Given the description of an element on the screen output the (x, y) to click on. 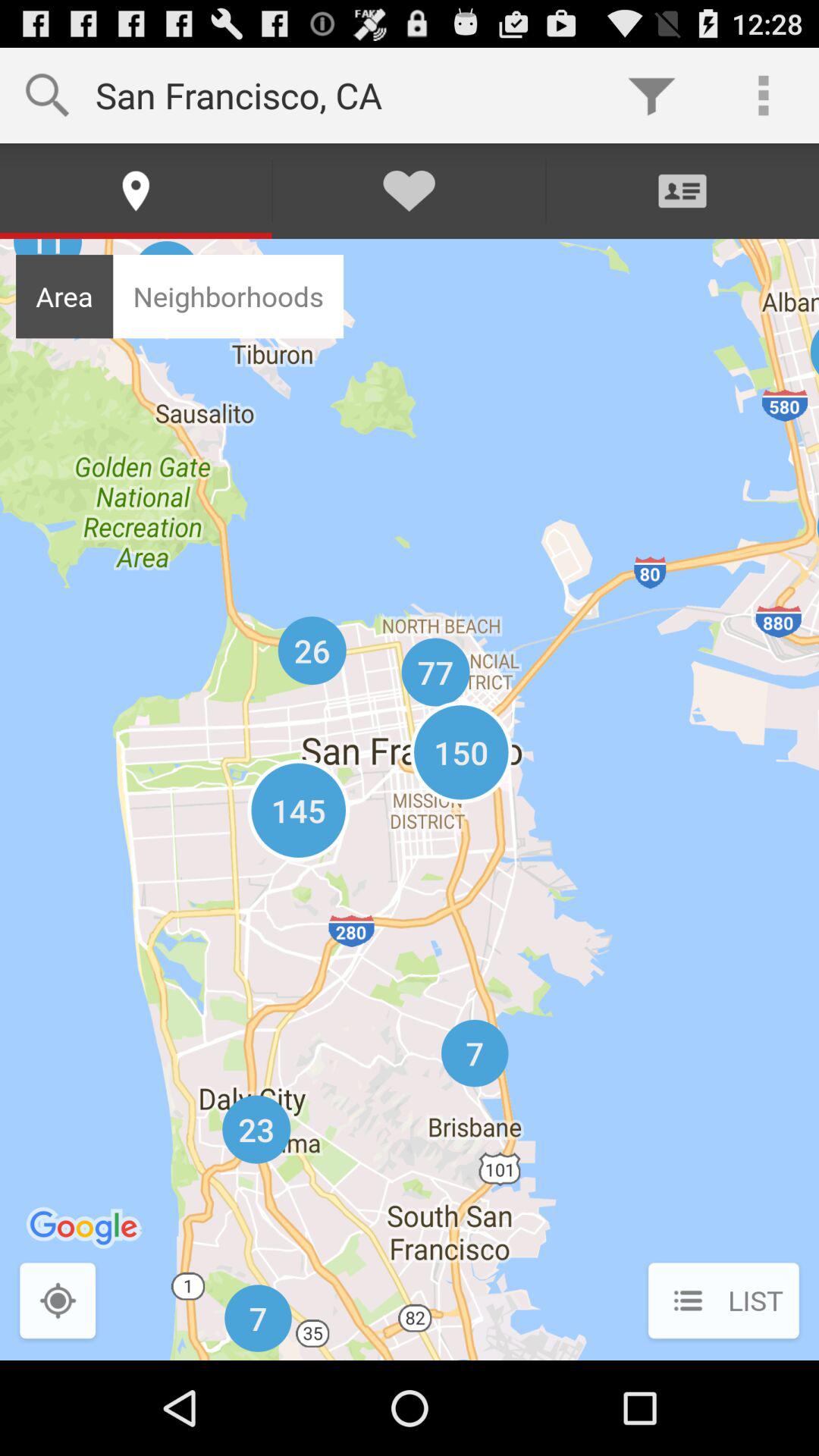
click neighborhoods icon (228, 296)
